Given the description of an element on the screen output the (x, y) to click on. 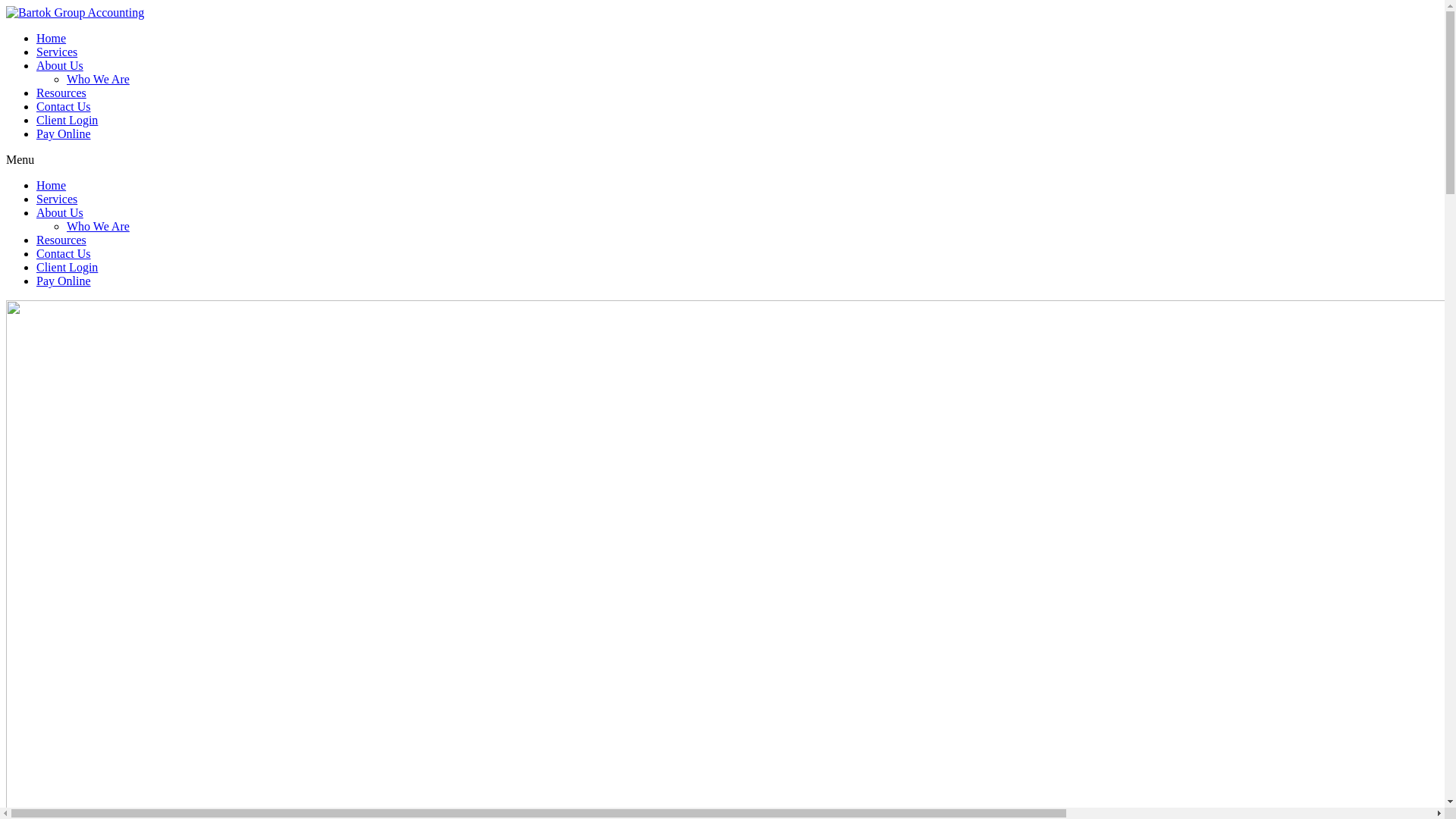
Resources Element type: text (61, 92)
Who We Are Element type: text (97, 225)
Contact Us Element type: text (63, 106)
Who We Are Element type: text (97, 78)
About Us Element type: text (59, 65)
Client Login Element type: text (66, 266)
Services Element type: text (56, 198)
Pay Online Element type: text (63, 133)
About Us Element type: text (59, 212)
Pay Online Element type: text (63, 280)
Resources Element type: text (61, 239)
Home Element type: text (50, 37)
Client Login Element type: text (66, 119)
Home Element type: text (50, 184)
Contact Us Element type: text (63, 253)
Services Element type: text (56, 51)
